Given the description of an element on the screen output the (x, y) to click on. 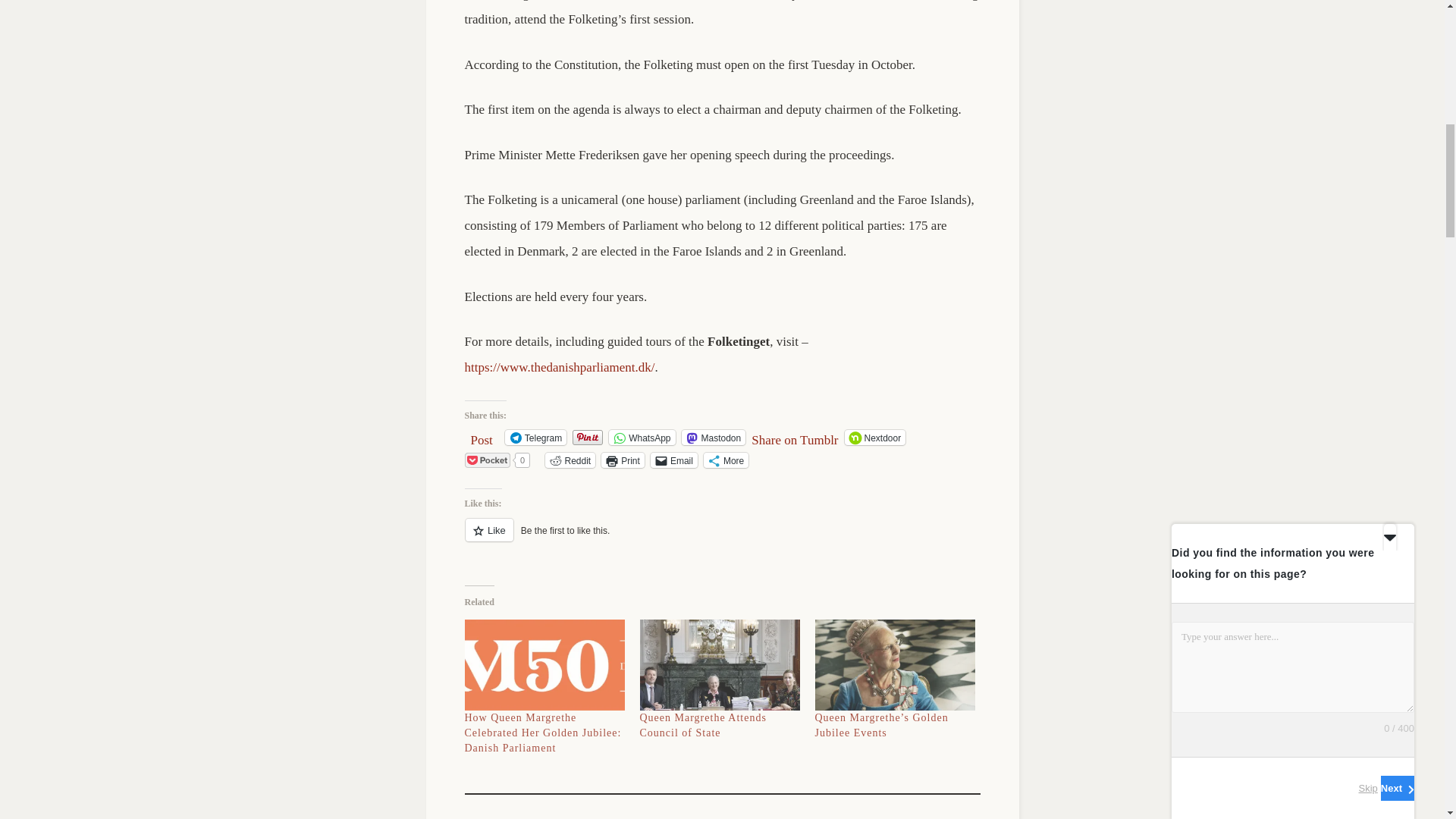
More (725, 459)
Share on Tumblr (794, 436)
Email (673, 459)
Mastodon (713, 437)
Queen Margrethe Attends Council of State (703, 724)
Click to share on Mastodon (713, 437)
Share on Tumblr (794, 436)
WhatsApp (641, 437)
Click to share on Reddit (569, 459)
Nextdoor (874, 437)
Print (623, 459)
Telegram (535, 437)
